Given the description of an element on the screen output the (x, y) to click on. 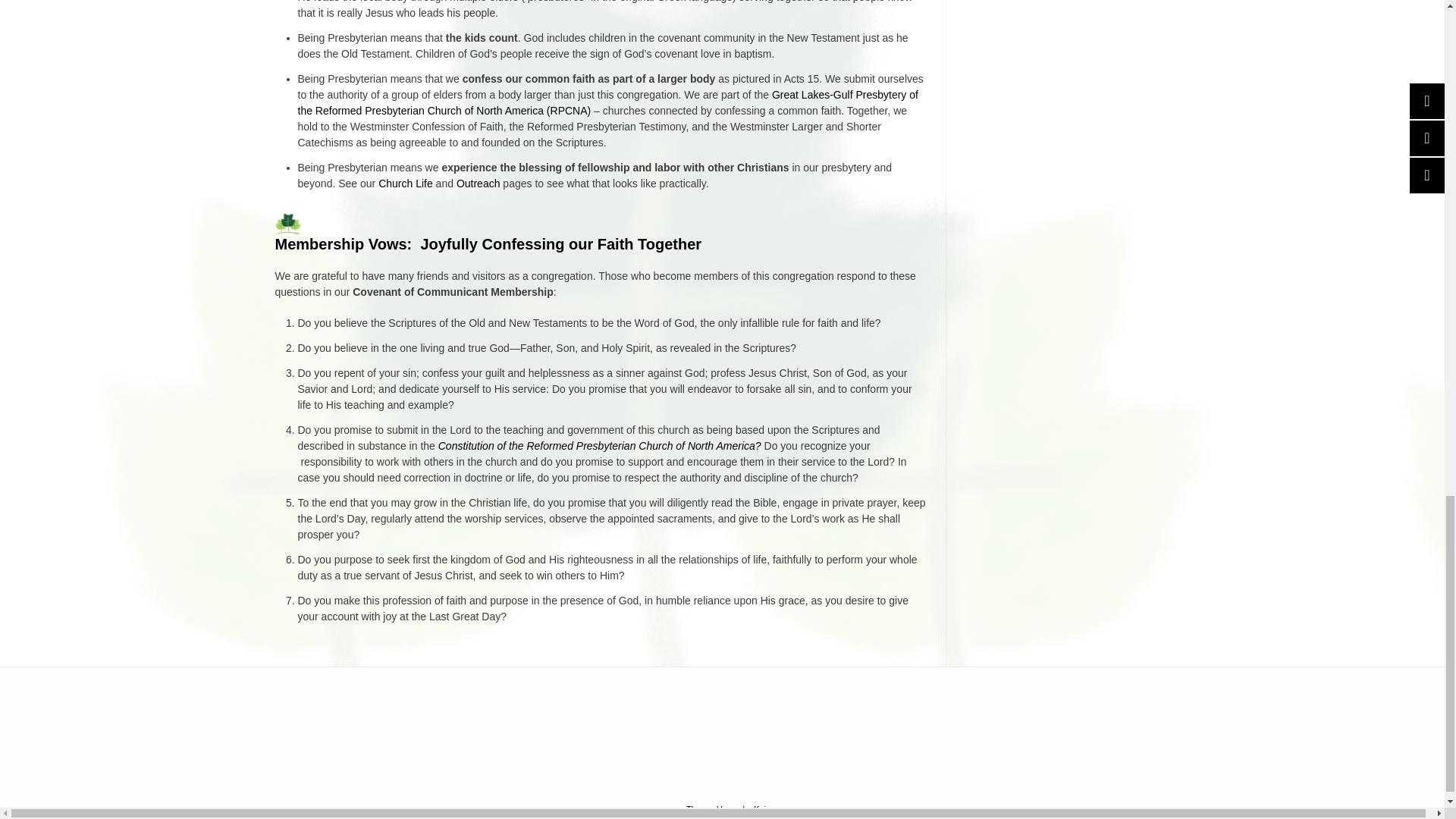
Outreach (478, 183)
Church Life (405, 183)
Vogue (727, 809)
